Given the description of an element on the screen output the (x, y) to click on. 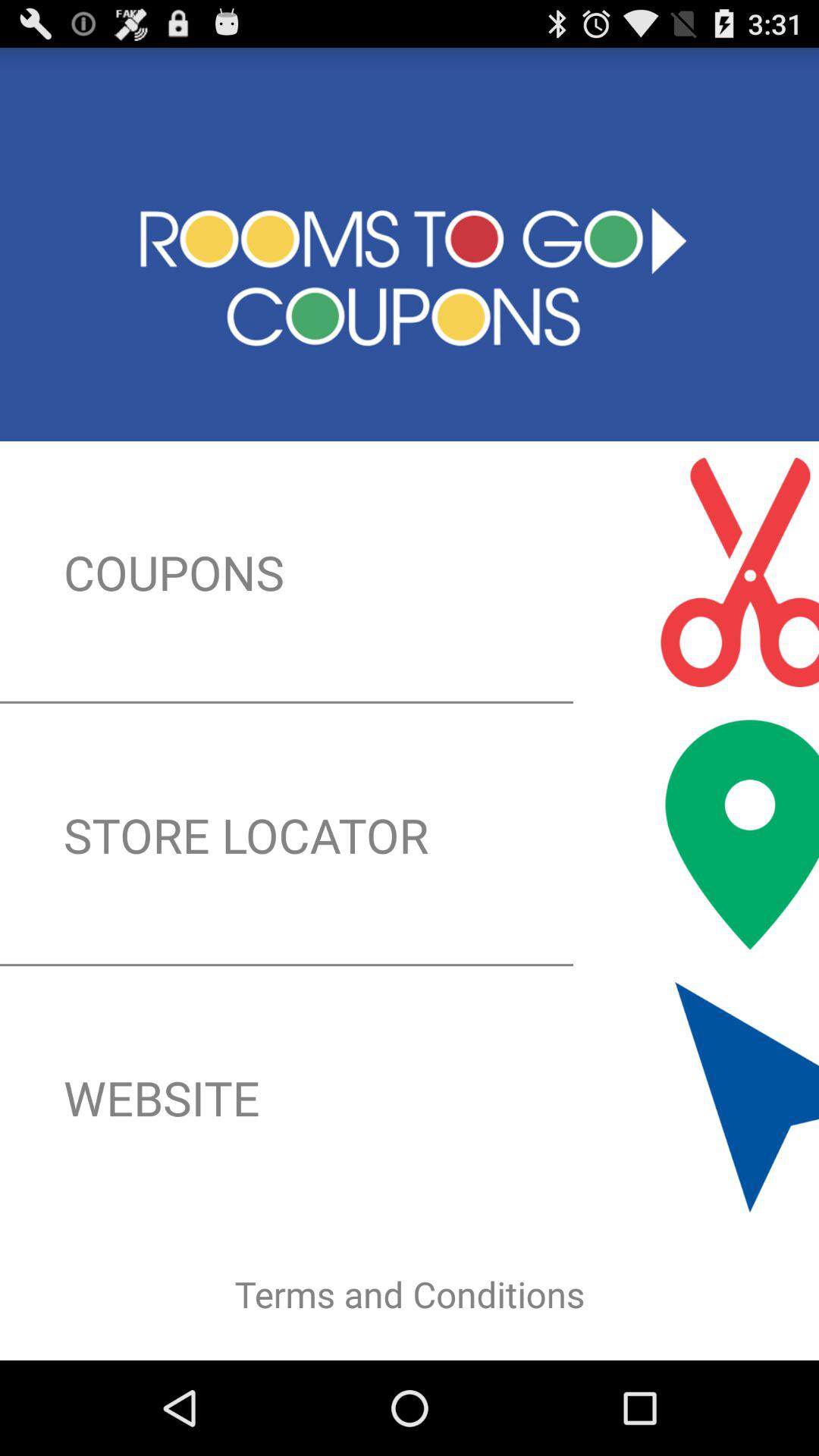
flip until the coupons (409, 572)
